Given the description of an element on the screen output the (x, y) to click on. 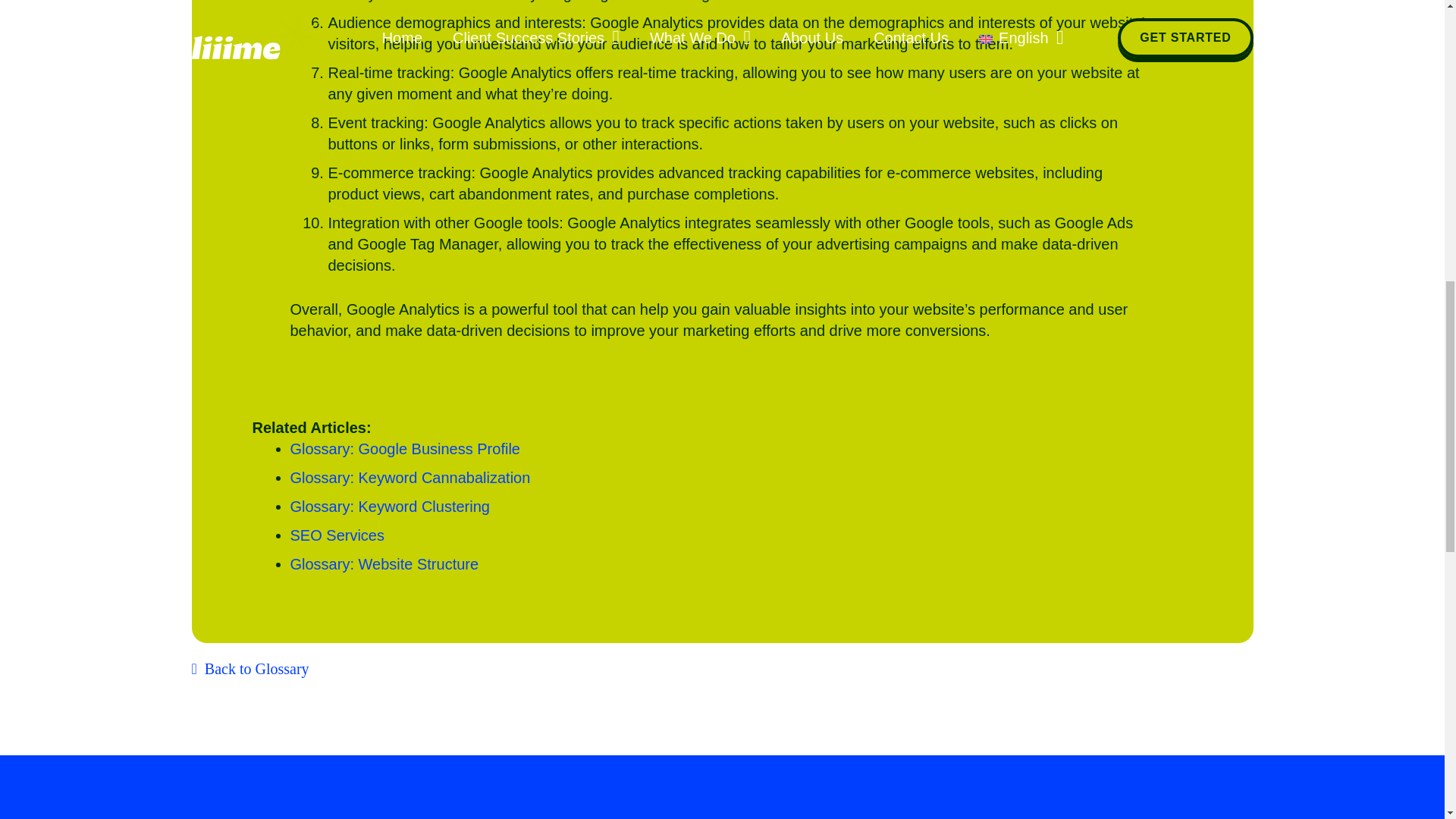
Glossary: Website Structure (384, 564)
Glossary: Keyword Clustering (389, 506)
SEO Services (336, 535)
Back to Glossary (249, 668)
Glossary: Google Business Profile (404, 448)
Glossary: Keyword Cannabalization (409, 477)
Back to top (1413, 26)
